Given the description of an element on the screen output the (x, y) to click on. 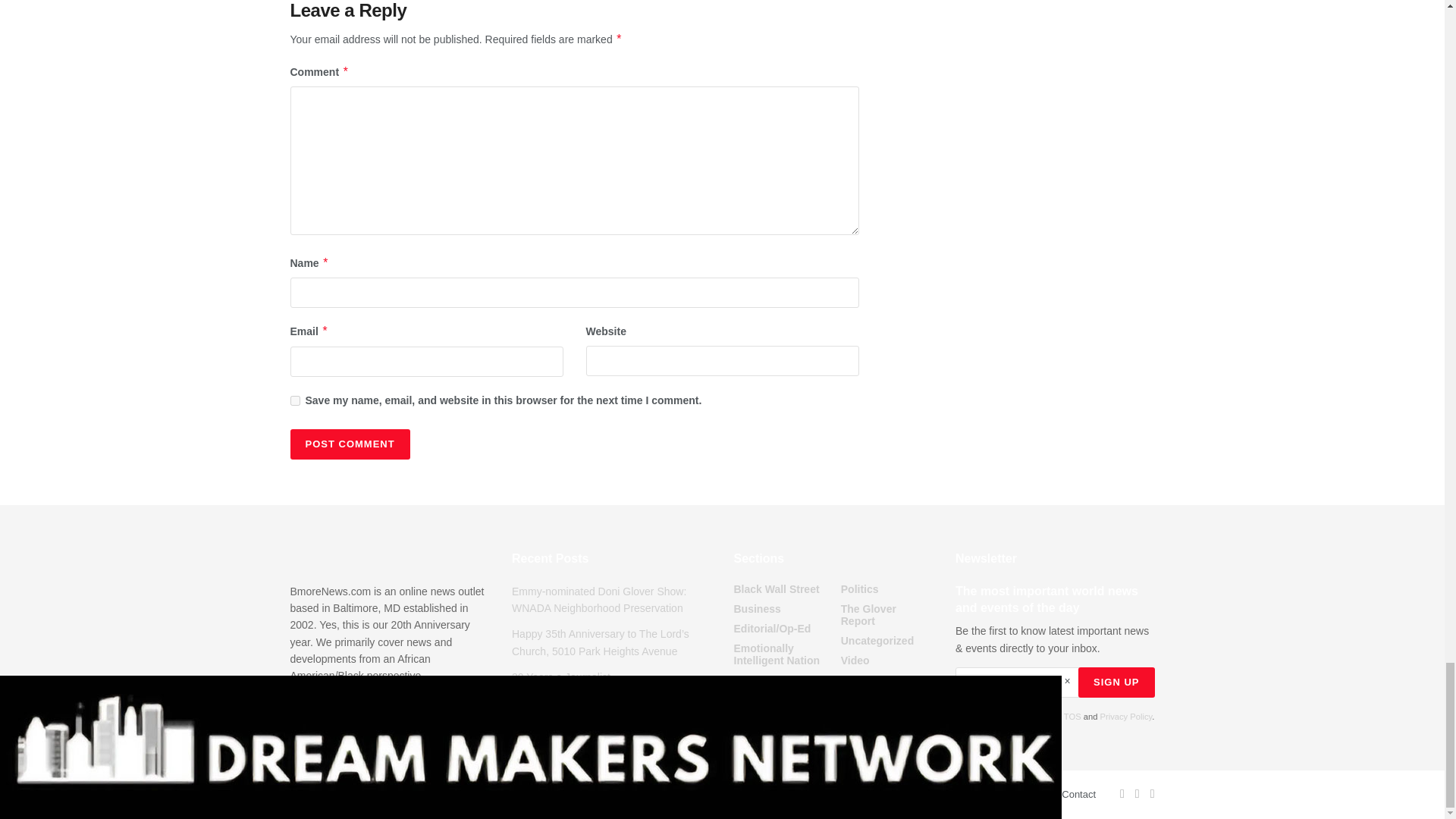
Sign up (1116, 682)
Post Comment (349, 444)
yes (294, 400)
